Given the description of an element on the screen output the (x, y) to click on. 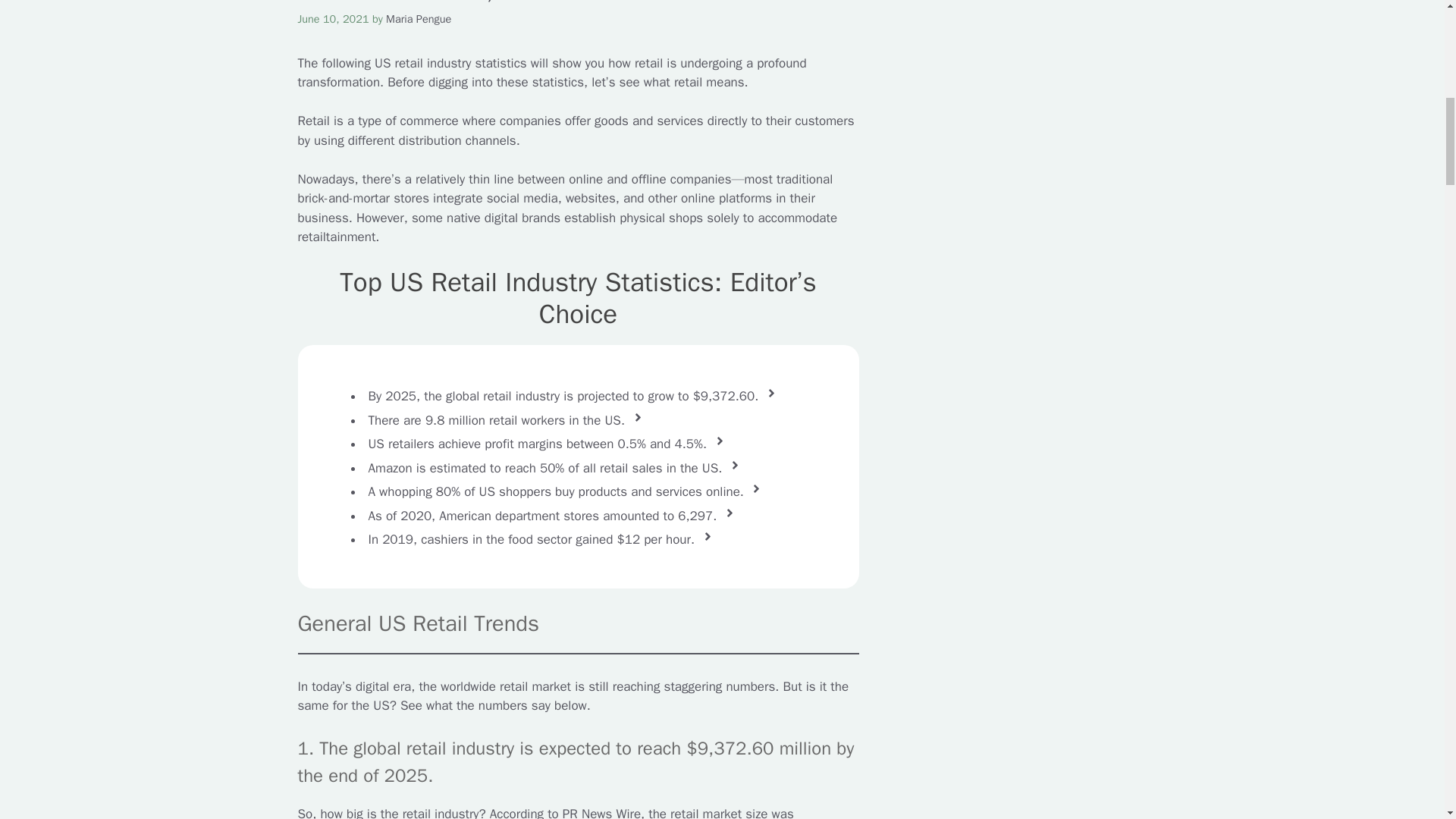
There are 9.8 million retail workers in the US. (496, 418)
Maria Pengue (418, 18)
View all posts by Maria Pengue (418, 18)
As of 2020, American department stores amounted to 6,297. (542, 514)
Scroll back to top (1406, 720)
